Given the description of an element on the screen output the (x, y) to click on. 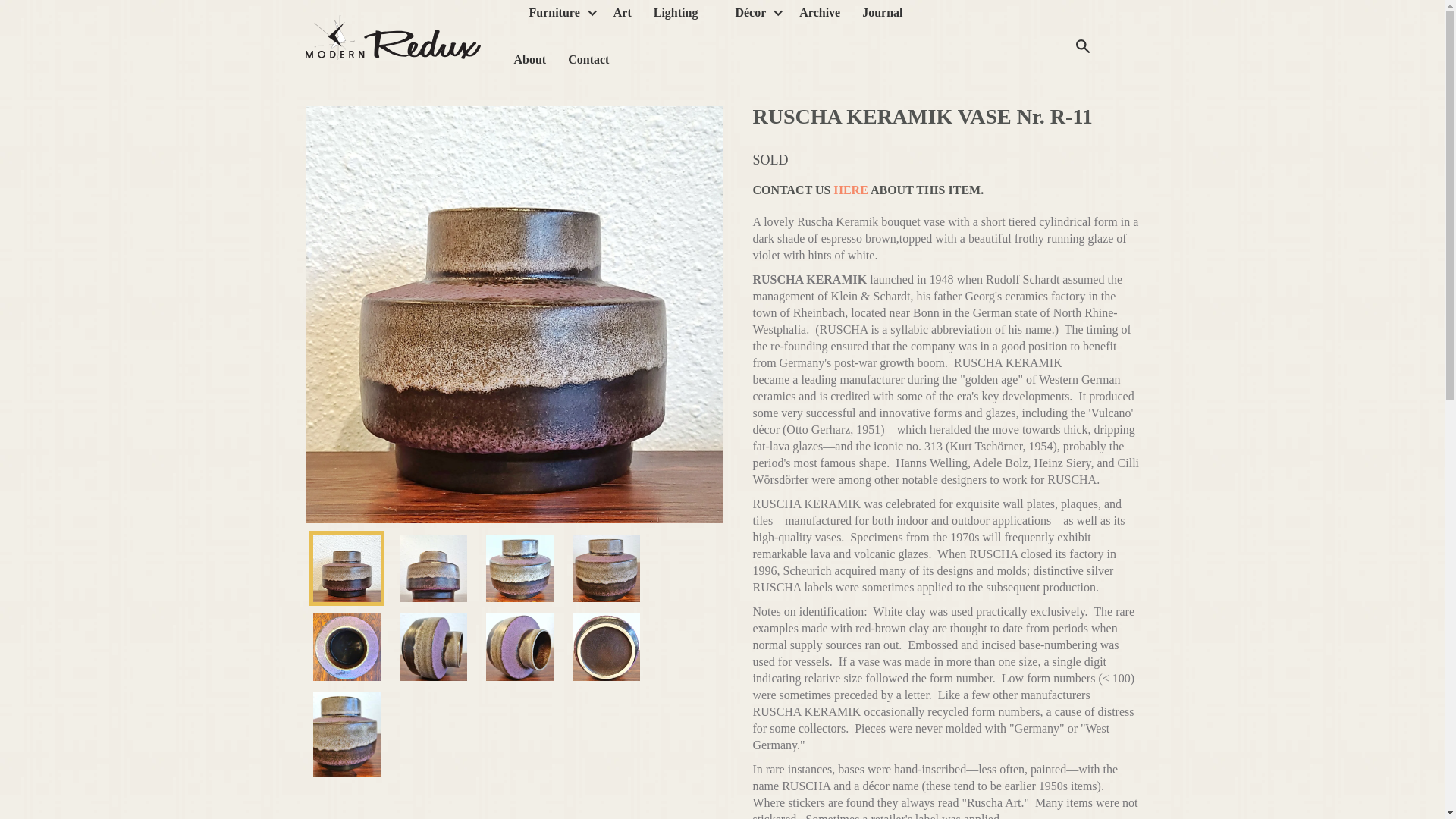
Search (1082, 45)
Archive (819, 18)
Journal (881, 18)
Lighting (675, 18)
HERE (849, 189)
